Given the description of an element on the screen output the (x, y) to click on. 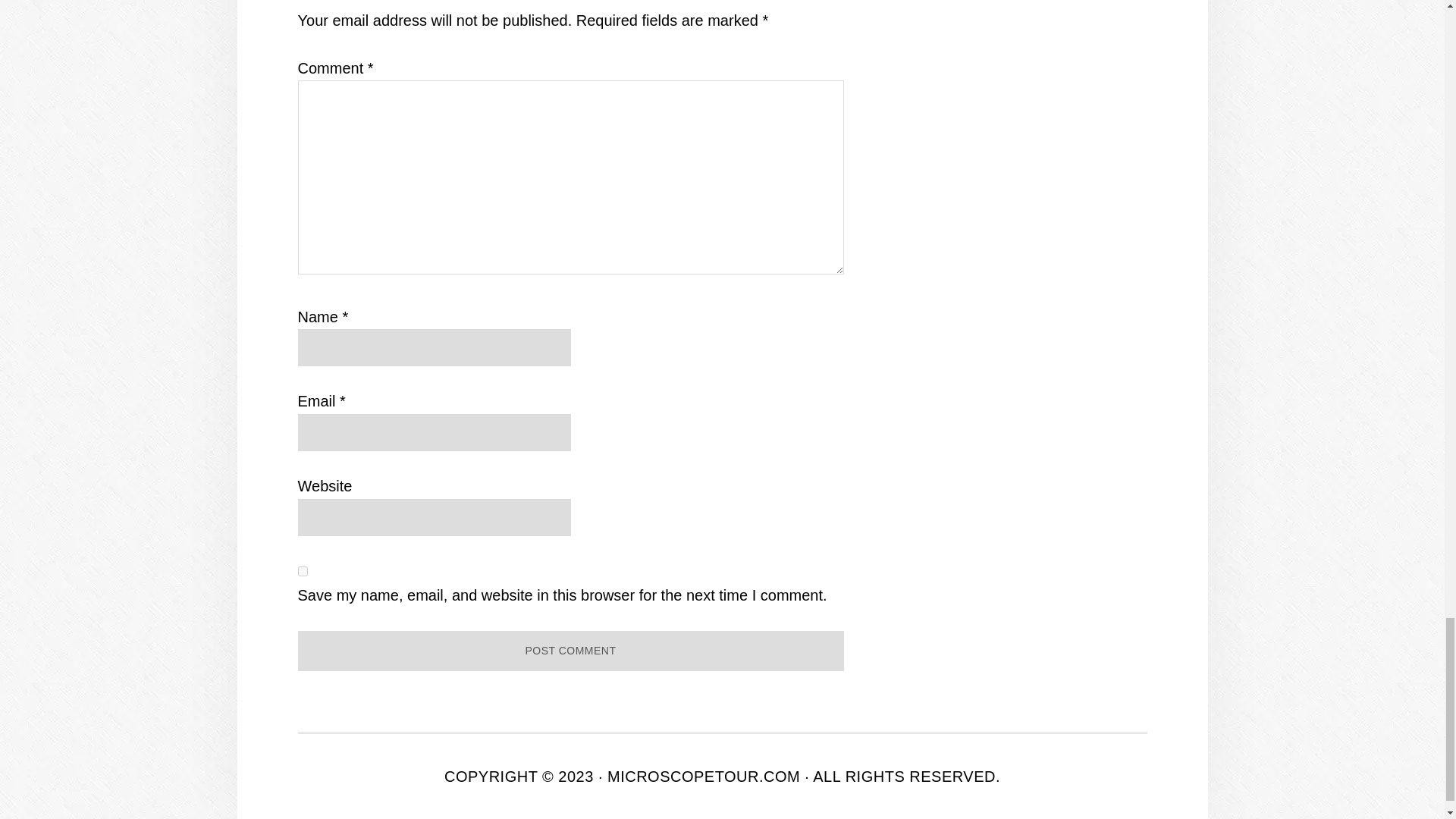
Post Comment (570, 650)
Post Comment (570, 650)
yes (302, 571)
